Given the description of an element on the screen output the (x, y) to click on. 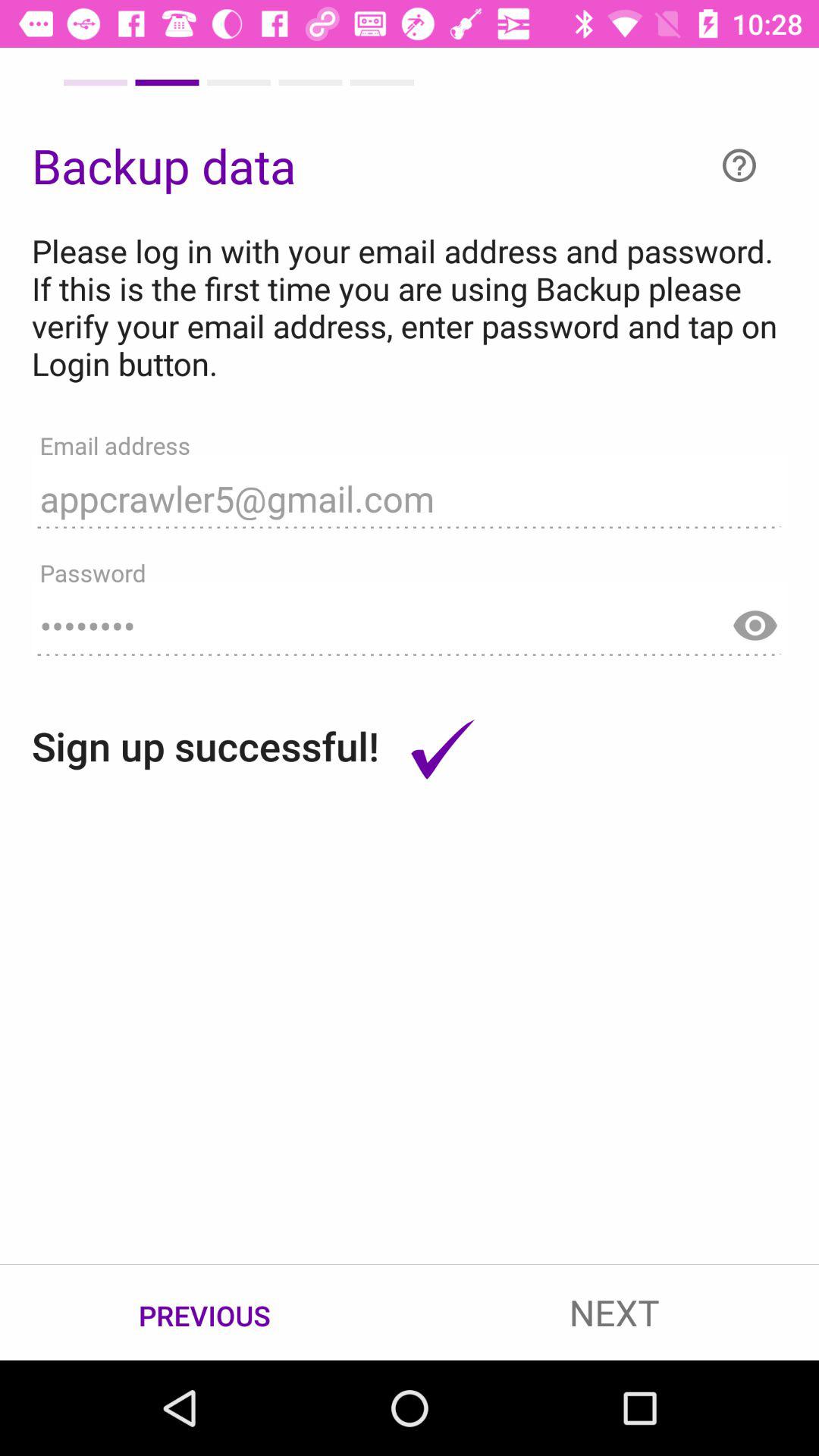
open help menu (739, 165)
